Given the description of an element on the screen output the (x, y) to click on. 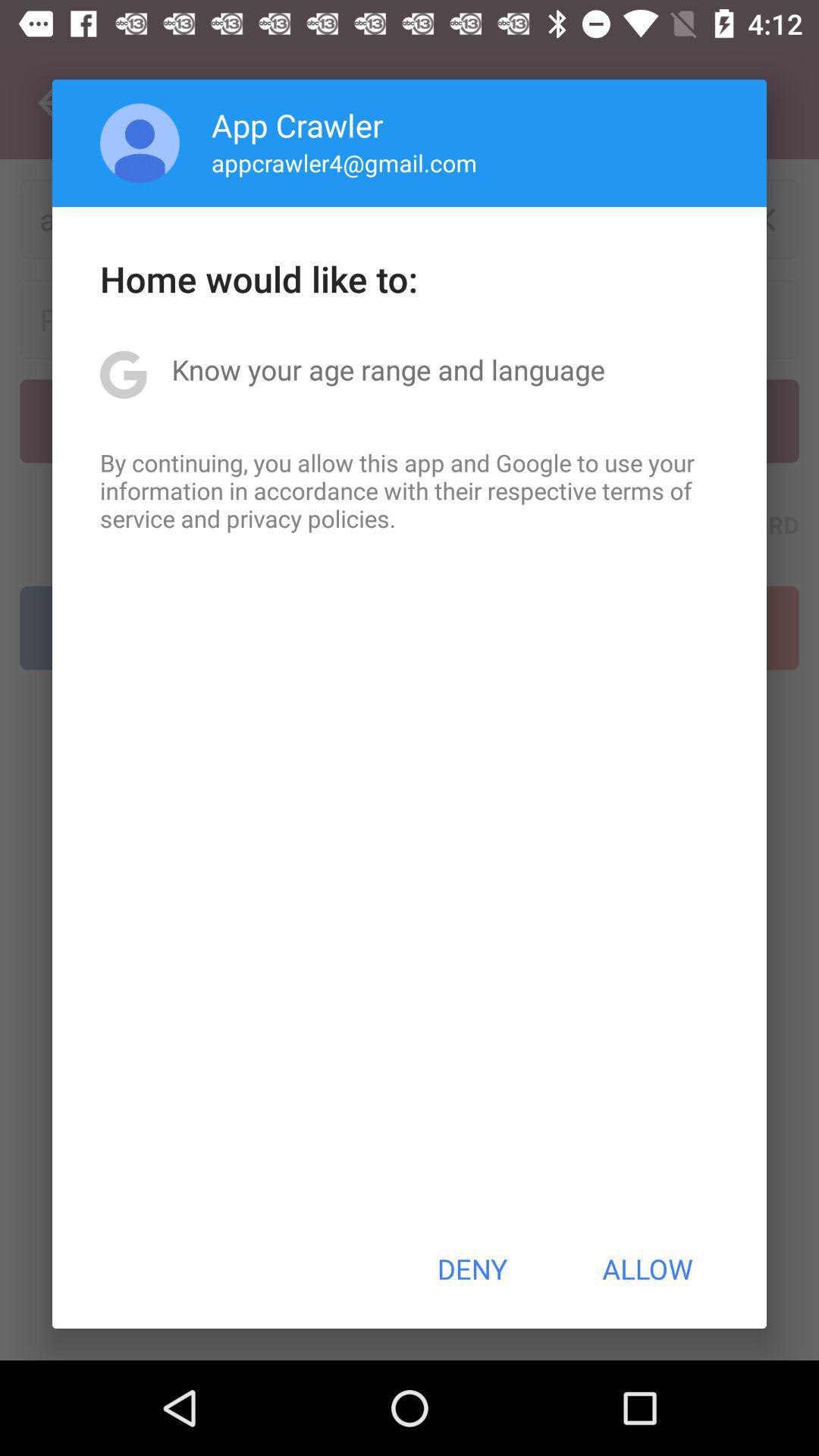
click the button to the left of allow item (471, 1268)
